Given the description of an element on the screen output the (x, y) to click on. 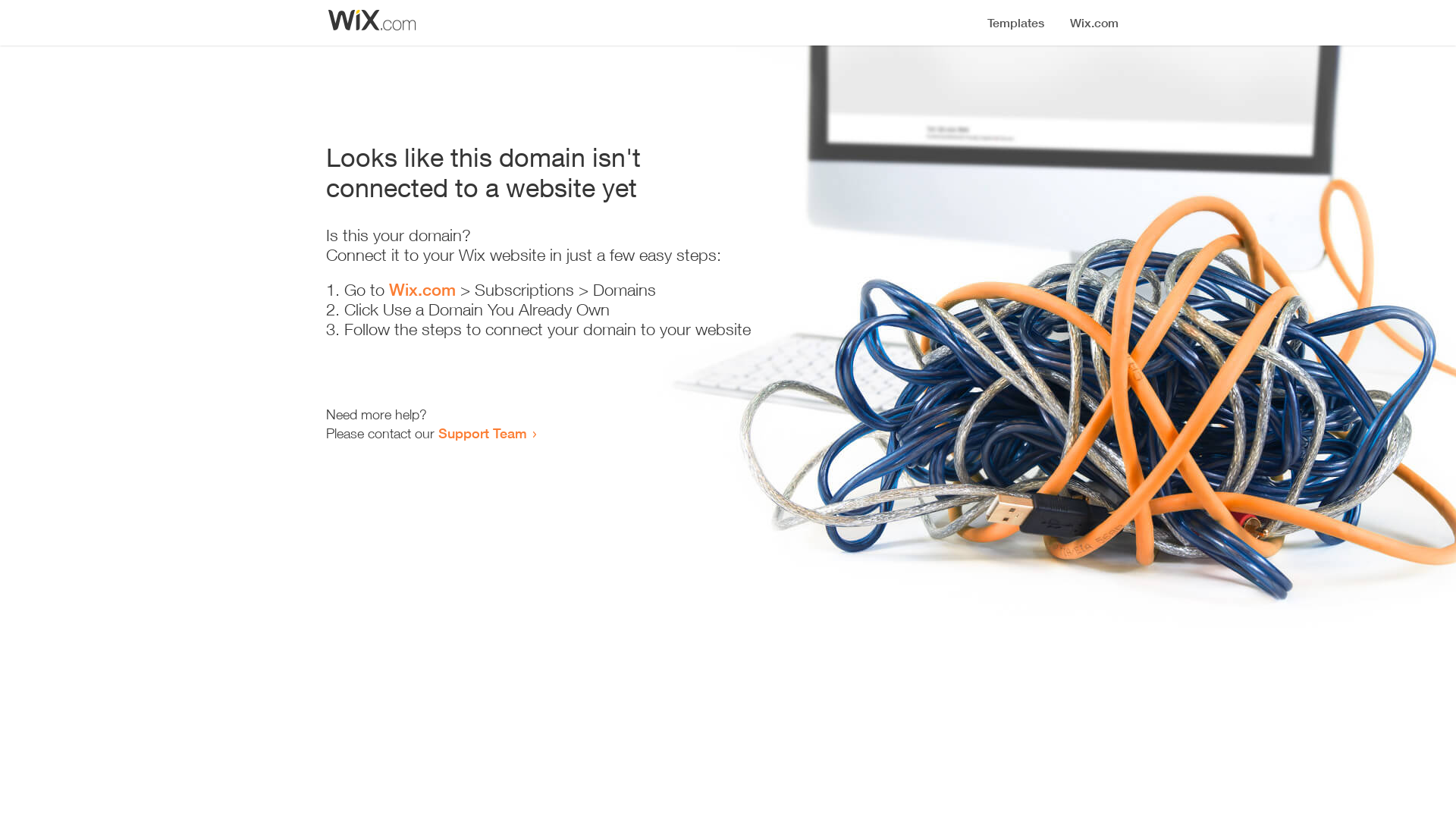
Wix.com Element type: text (422, 289)
Support Team Element type: text (482, 432)
